Given the description of an element on the screen output the (x, y) to click on. 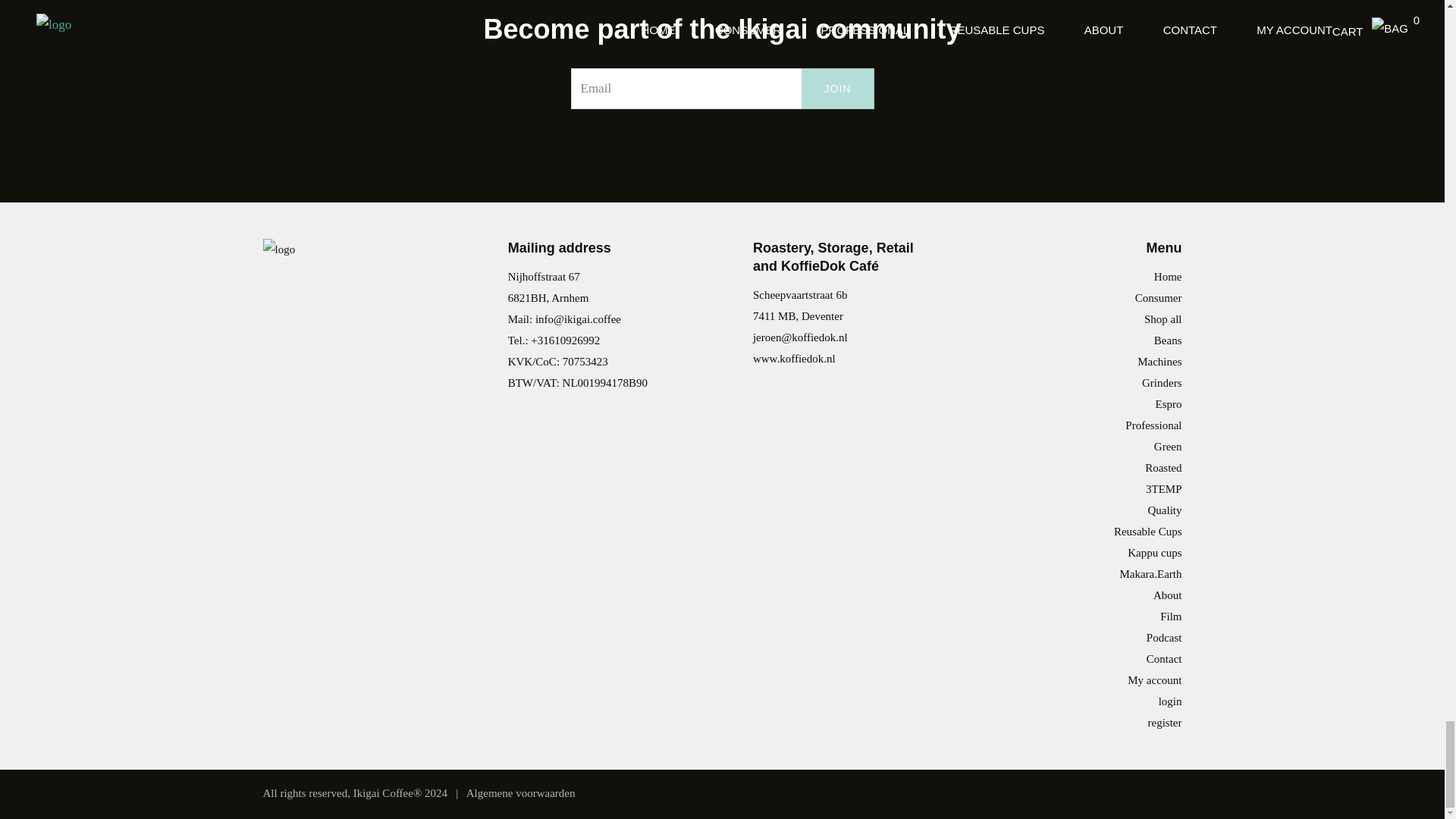
Home (1168, 276)
Join (838, 87)
www.koffiedok.nl (793, 358)
Join (838, 87)
